Given the description of an element on the screen output the (x, y) to click on. 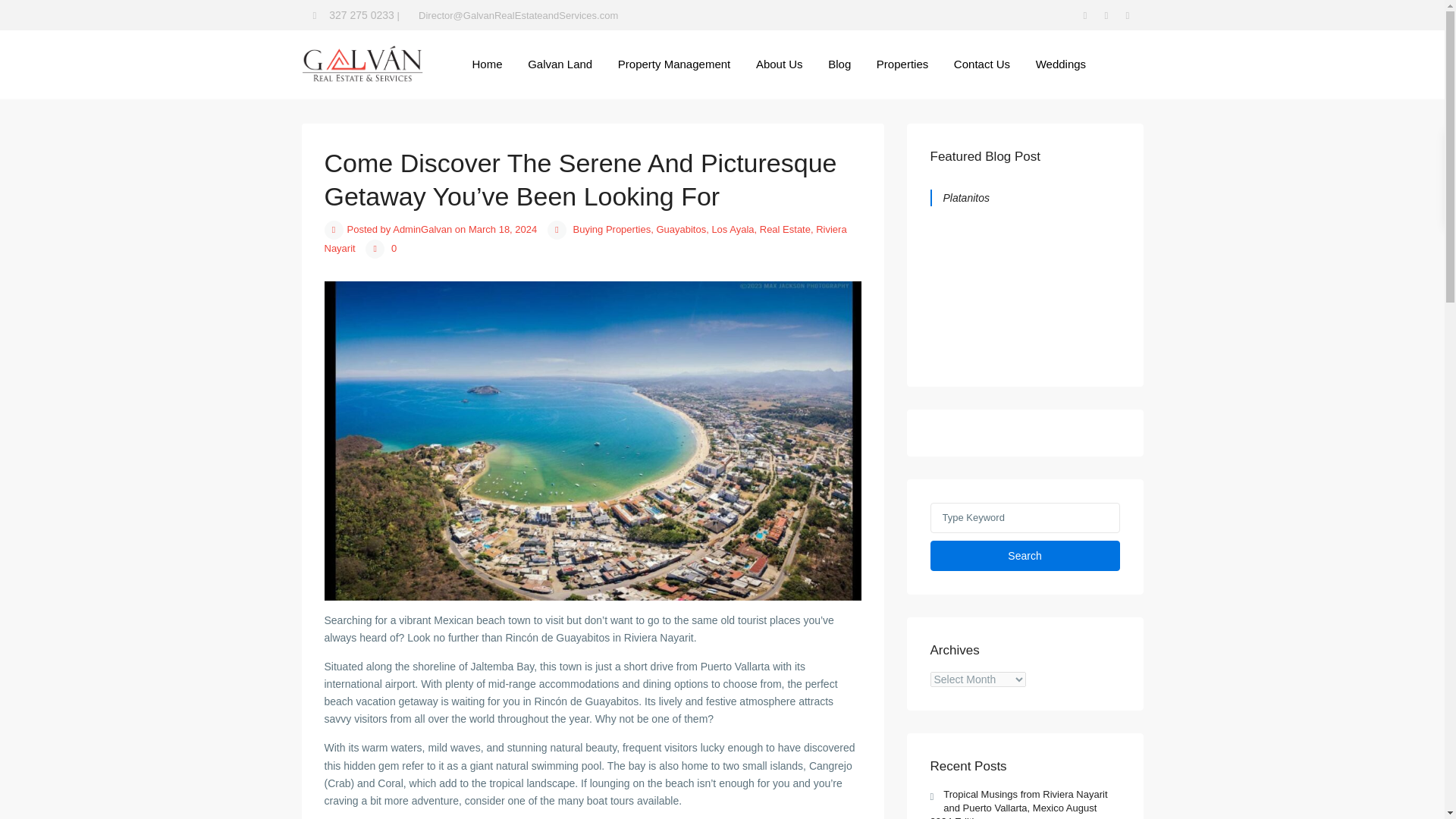
About Us (778, 64)
Galvan Land (560, 64)
Property Management (674, 64)
327 275 0233 (361, 14)
Properties (901, 64)
